Given the description of an element on the screen output the (x, y) to click on. 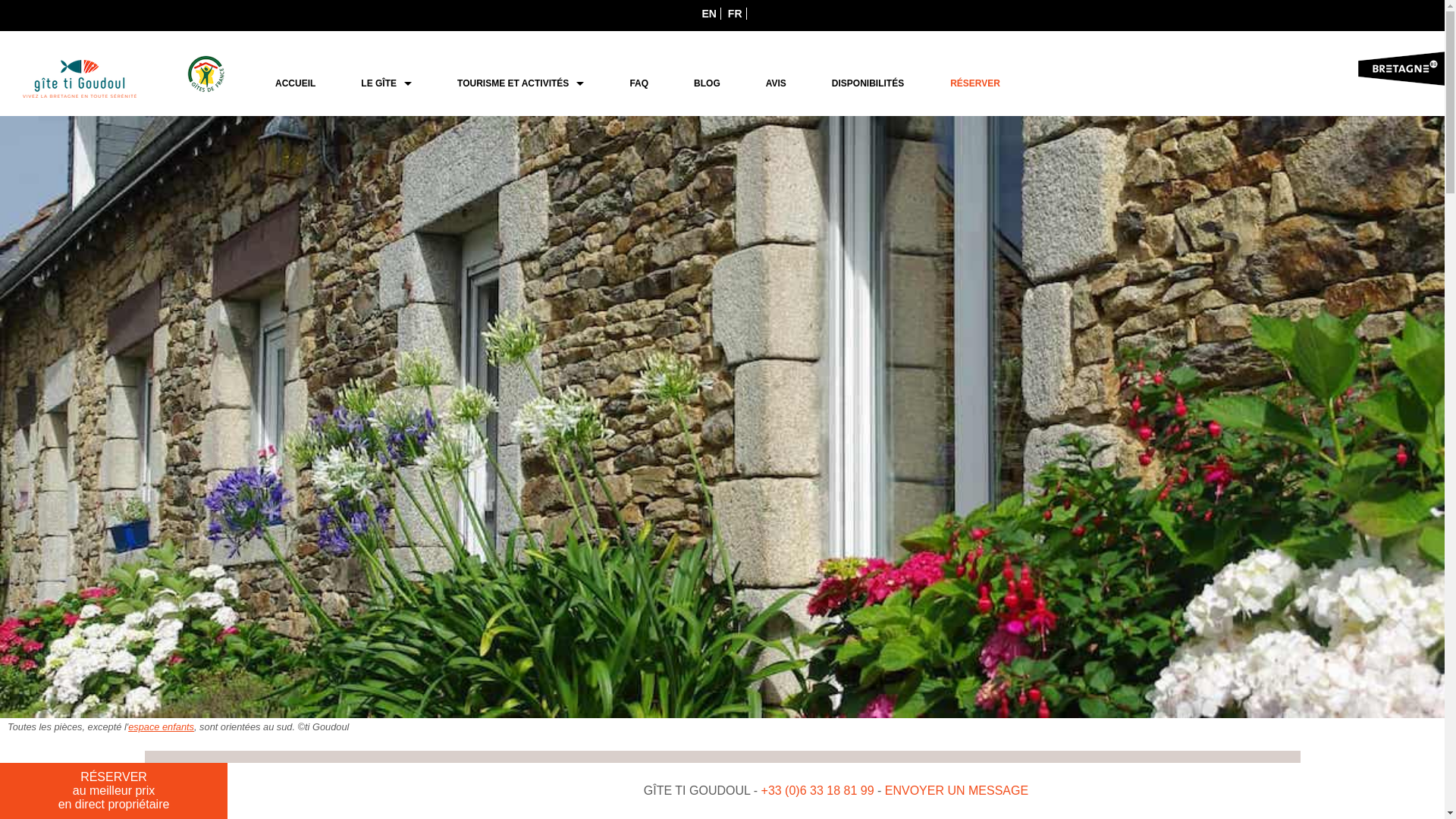
FAQ Element type: text (638, 83)
ACCUEIL Element type: text (295, 83)
BLOG Element type: text (707, 83)
EN Element type: text (708, 13)
AVIS Element type: text (776, 83)
FR Element type: text (735, 13)
espace enfants Element type: text (161, 726)
+33 (0)6 33 18 81 99 Element type: text (817, 790)
ENVOYER UN MESSAGE Element type: text (956, 790)
